Given the description of an element on the screen output the (x, y) to click on. 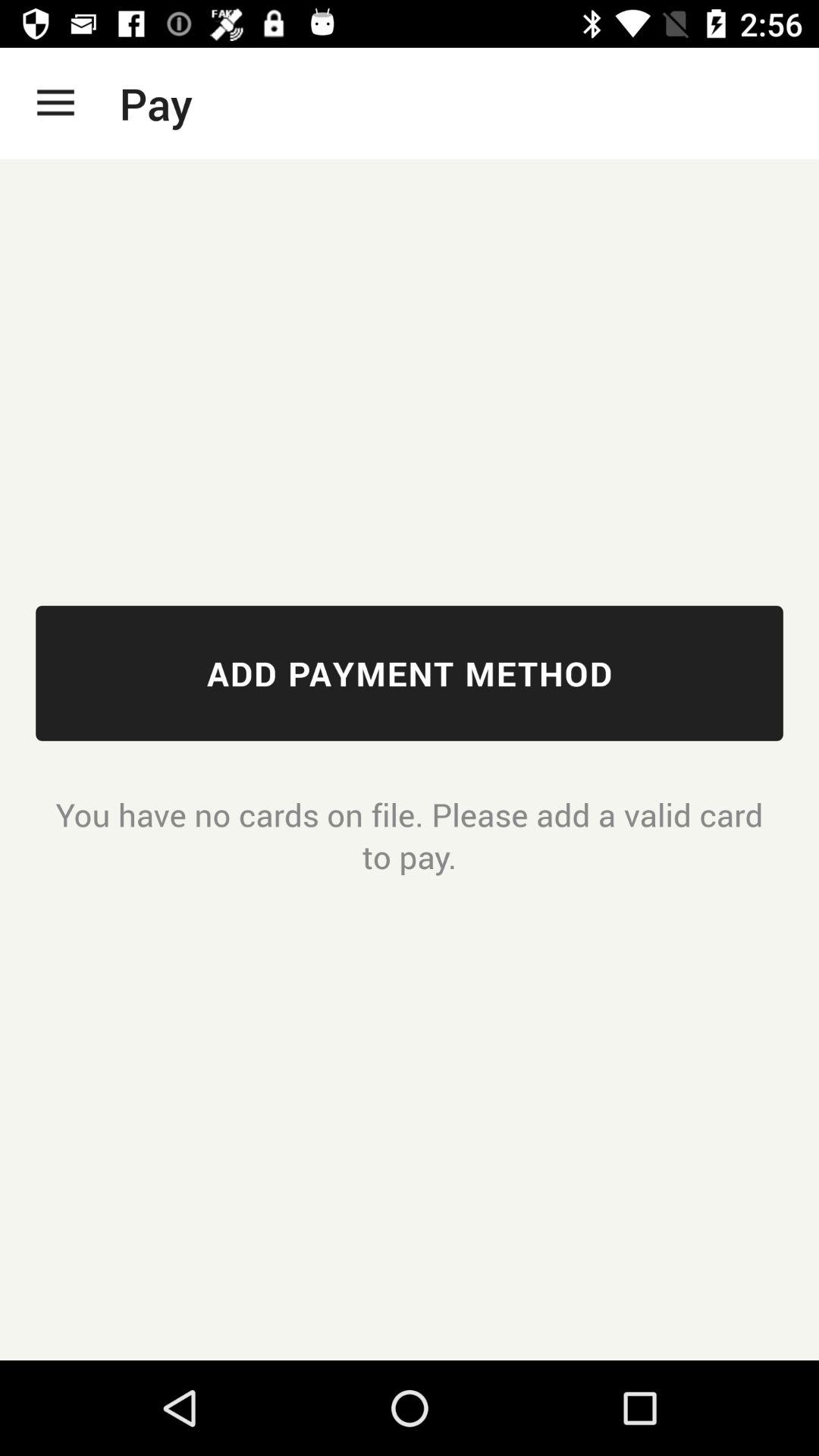
launch add payment method item (409, 673)
